Given the description of an element on the screen output the (x, y) to click on. 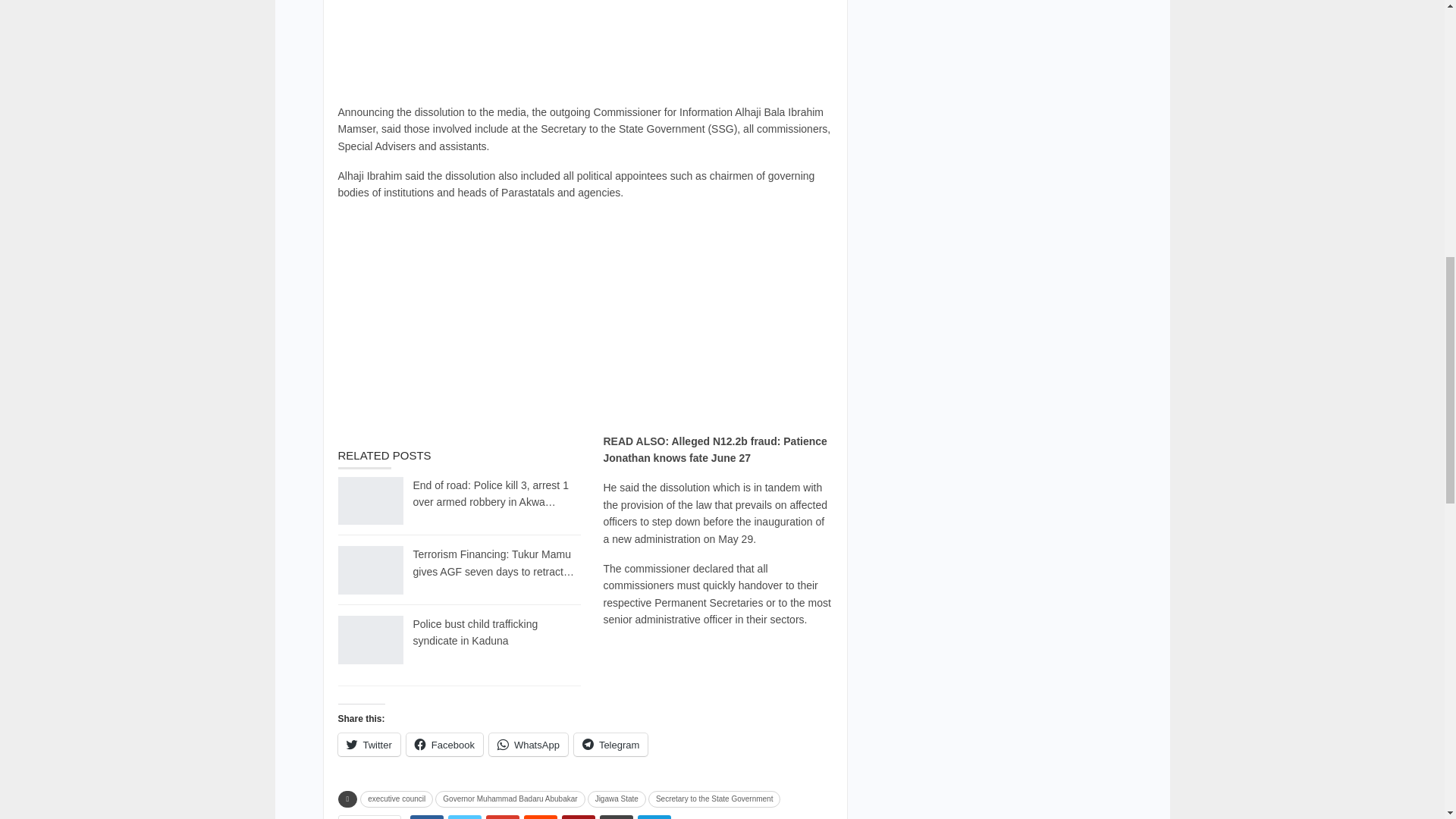
Click to share on Twitter (368, 744)
Advertisement (584, 320)
Click to share on Telegram (610, 744)
Click to share on WhatsApp (528, 744)
Advertisement (584, 48)
Click to share on Facebook (444, 744)
